Given the description of an element on the screen output the (x, y) to click on. 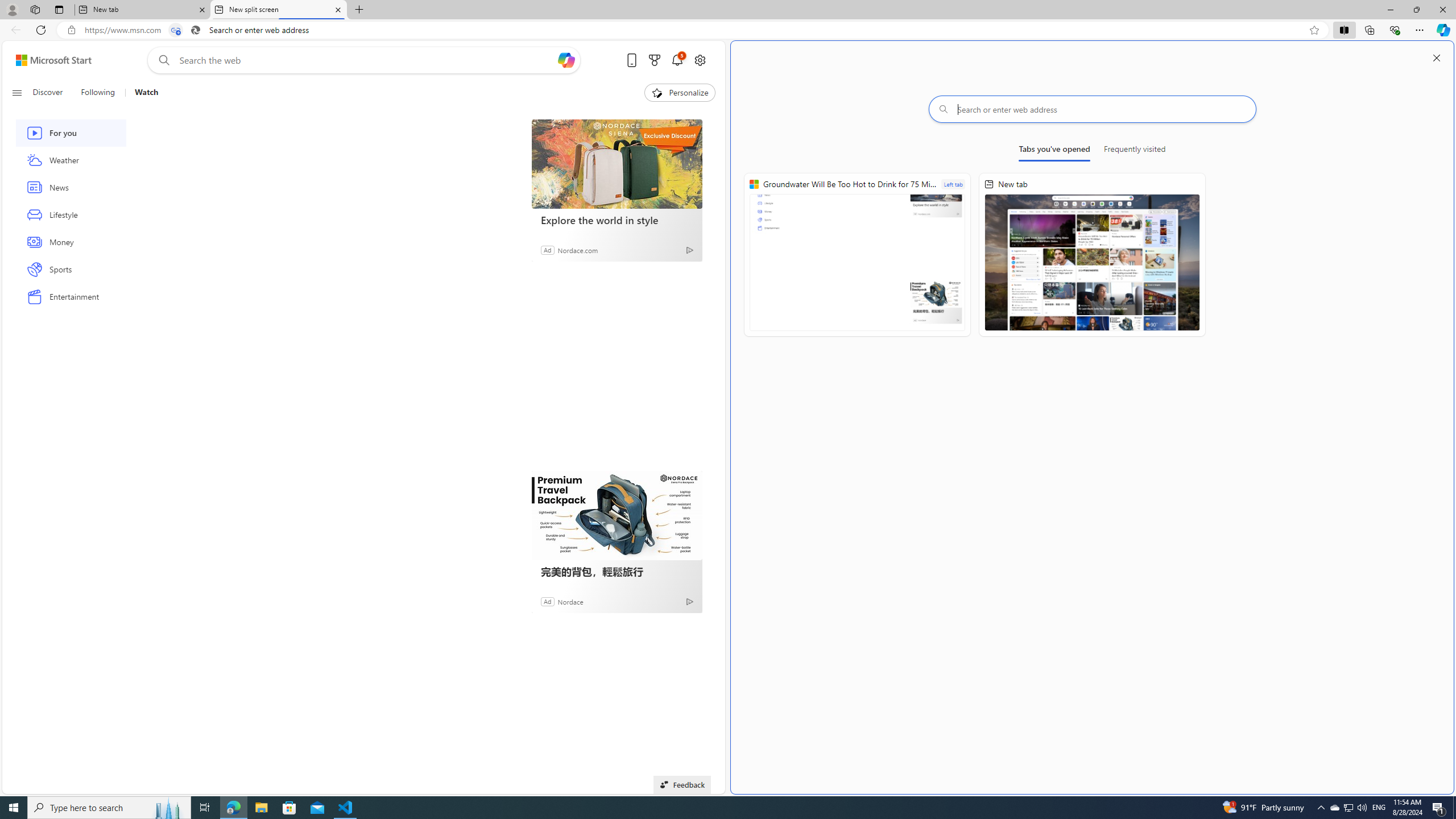
Open settings (699, 60)
Class: button-glyph (16, 92)
Skip to footer (46, 59)
Open navigation menu (16, 92)
Close split screen (1436, 57)
New split screen (277, 9)
Tabs you've opened (1054, 151)
